Given the description of an element on the screen output the (x, y) to click on. 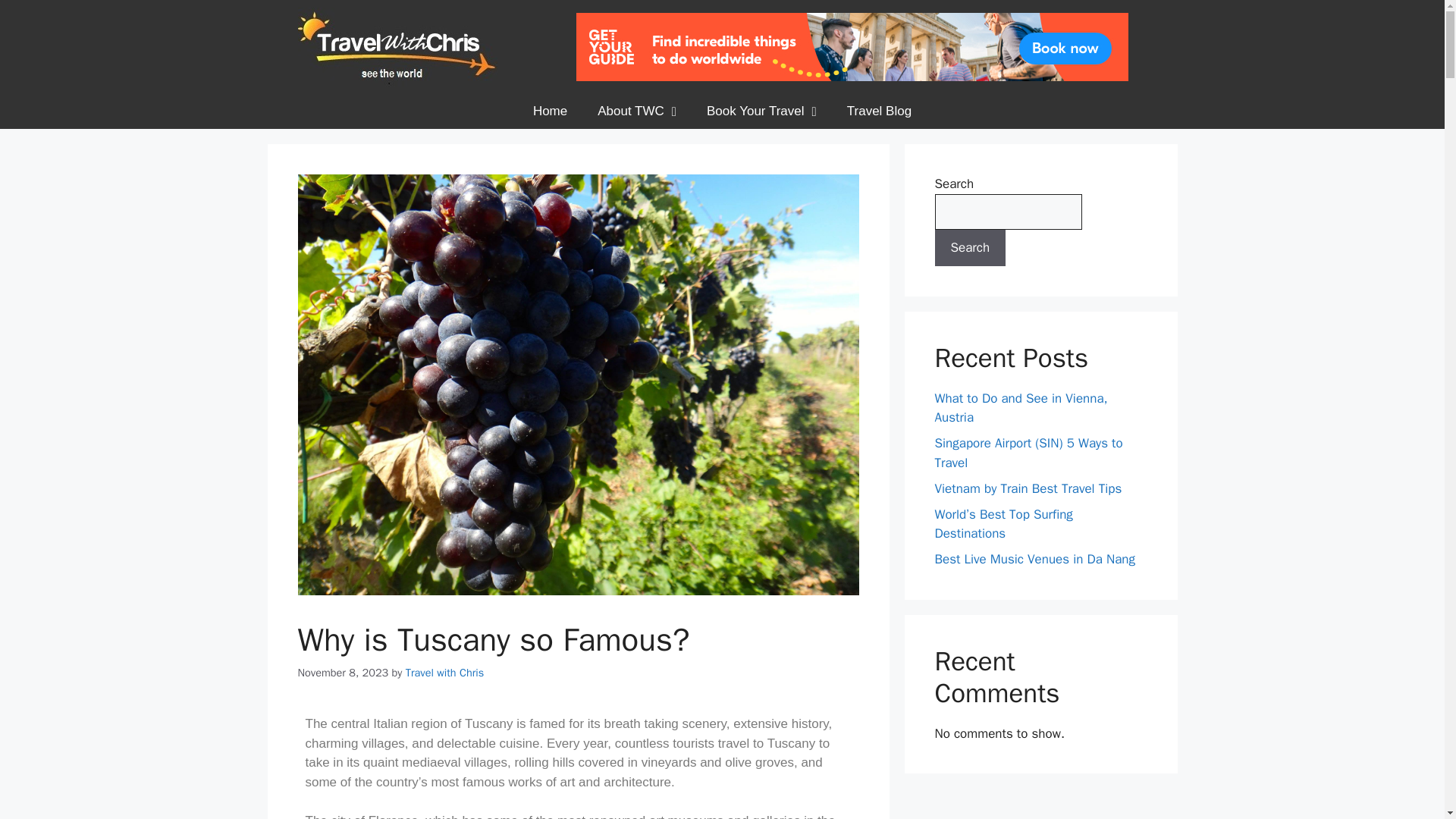
Travel Blog (878, 111)
Book Your Travel (761, 111)
About TWC (636, 111)
View all posts by Travel with Chris (445, 672)
Home (550, 111)
